Given the description of an element on the screen output the (x, y) to click on. 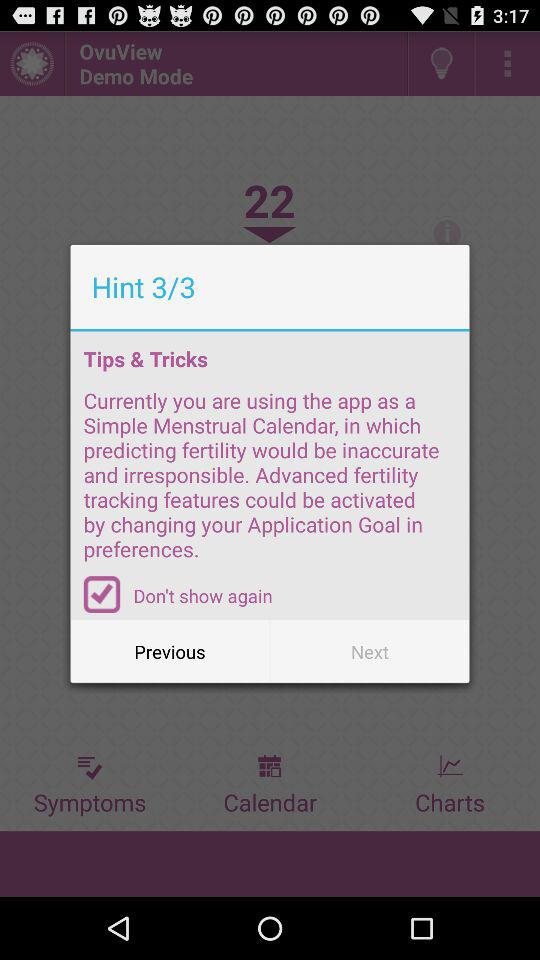
choose the next at the bottom right corner (369, 651)
